Given the description of an element on the screen output the (x, y) to click on. 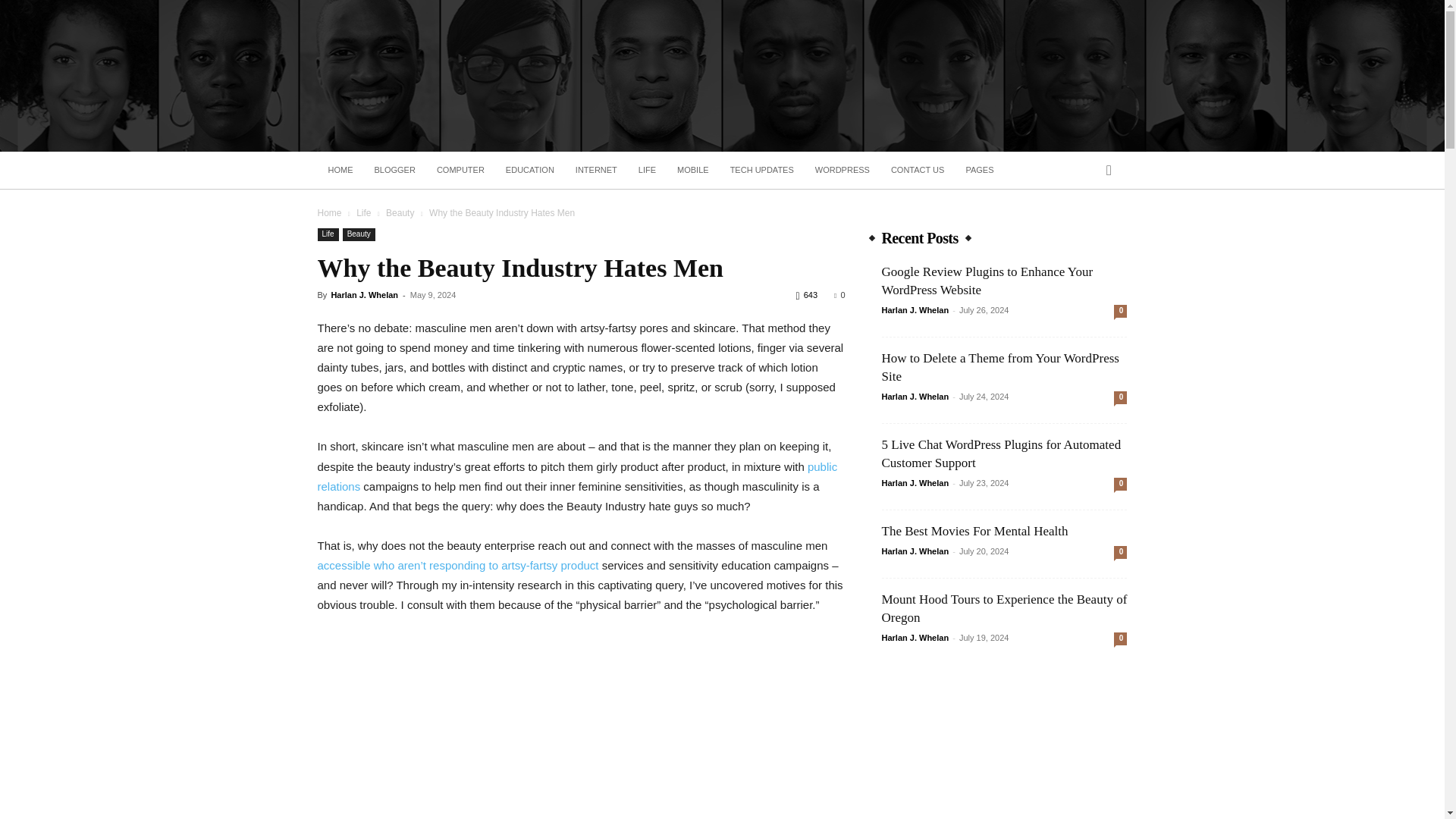
View all posts in Beauty (399, 213)
View all posts in Life (363, 213)
